Given the description of an element on the screen output the (x, y) to click on. 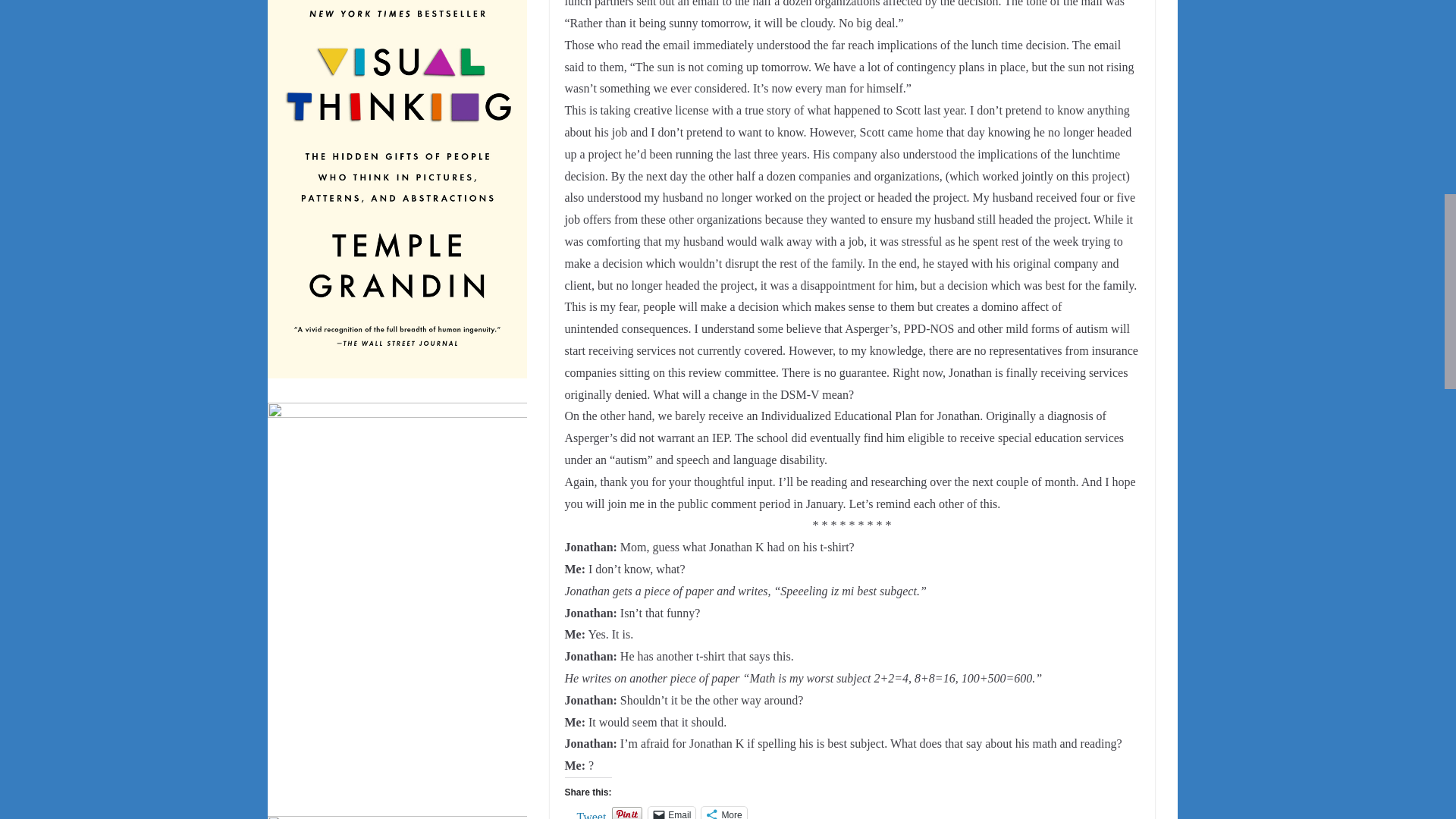
More (723, 812)
Tweet (590, 812)
Click to email a link to a friend (671, 812)
Email (671, 812)
